Given the description of an element on the screen output the (x, y) to click on. 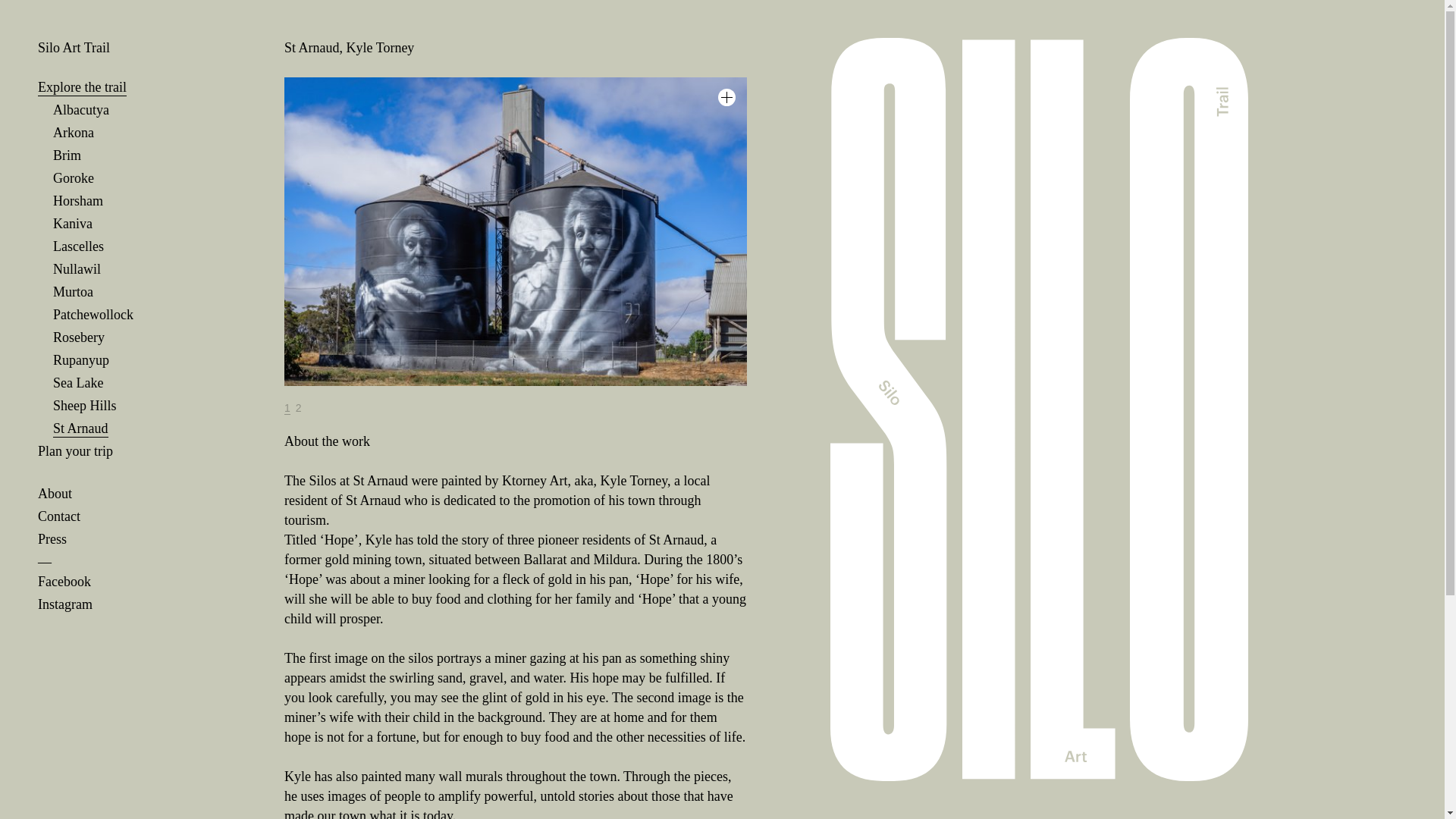
About (54, 493)
Murtoa (72, 292)
St Arnaud (79, 428)
Silo Art Trail (73, 47)
Instagram (65, 604)
Arkona (73, 132)
Explore the trail (81, 87)
1 (286, 408)
Press (51, 538)
Lascelles (77, 246)
2 (298, 408)
Goroke (73, 178)
Rupanyup (80, 360)
Albacutya (80, 109)
Brim (66, 155)
